Given the description of an element on the screen output the (x, y) to click on. 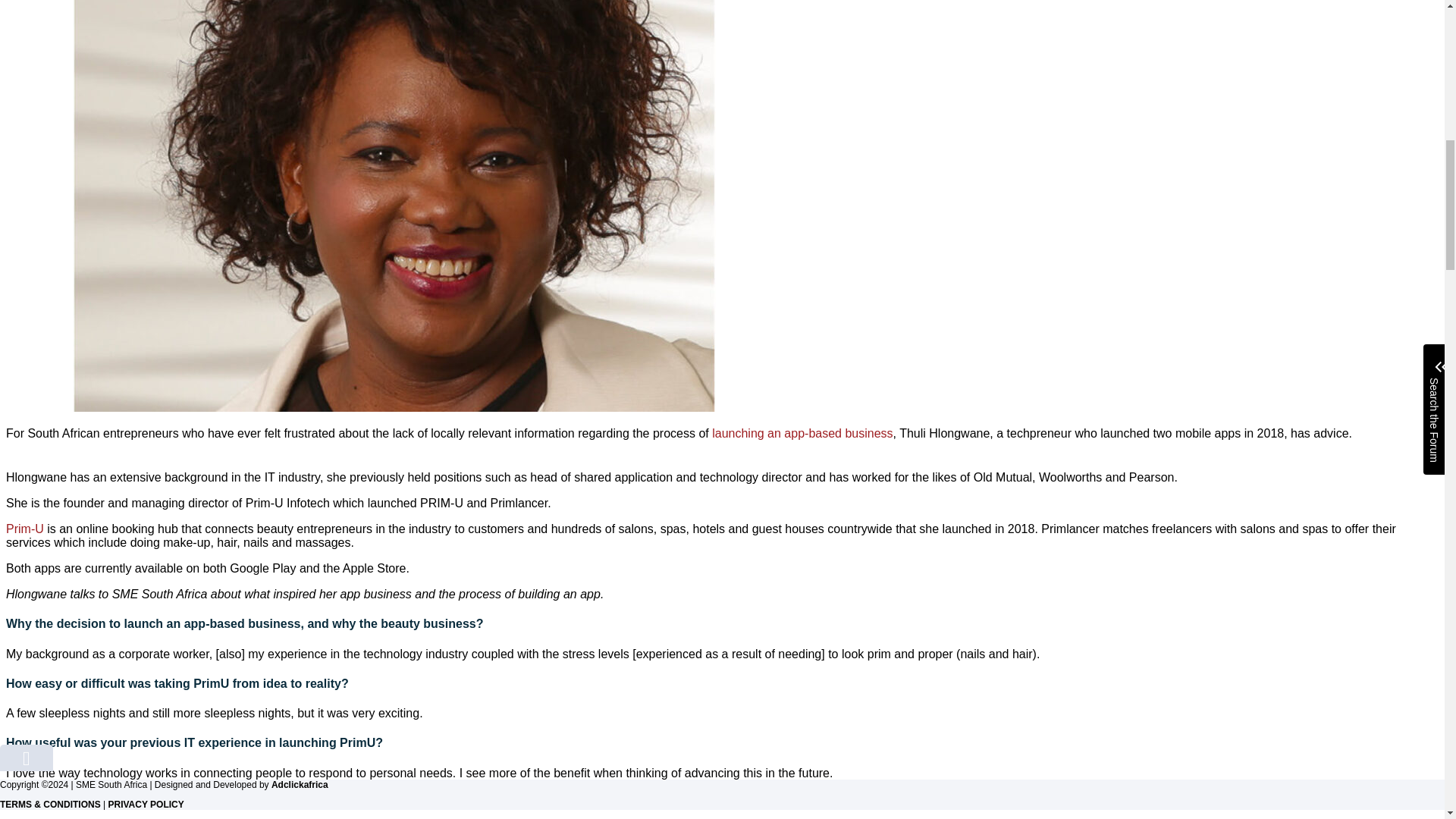
launching an app-based business (801, 432)
Prim-U (24, 528)
